Given the description of an element on the screen output the (x, y) to click on. 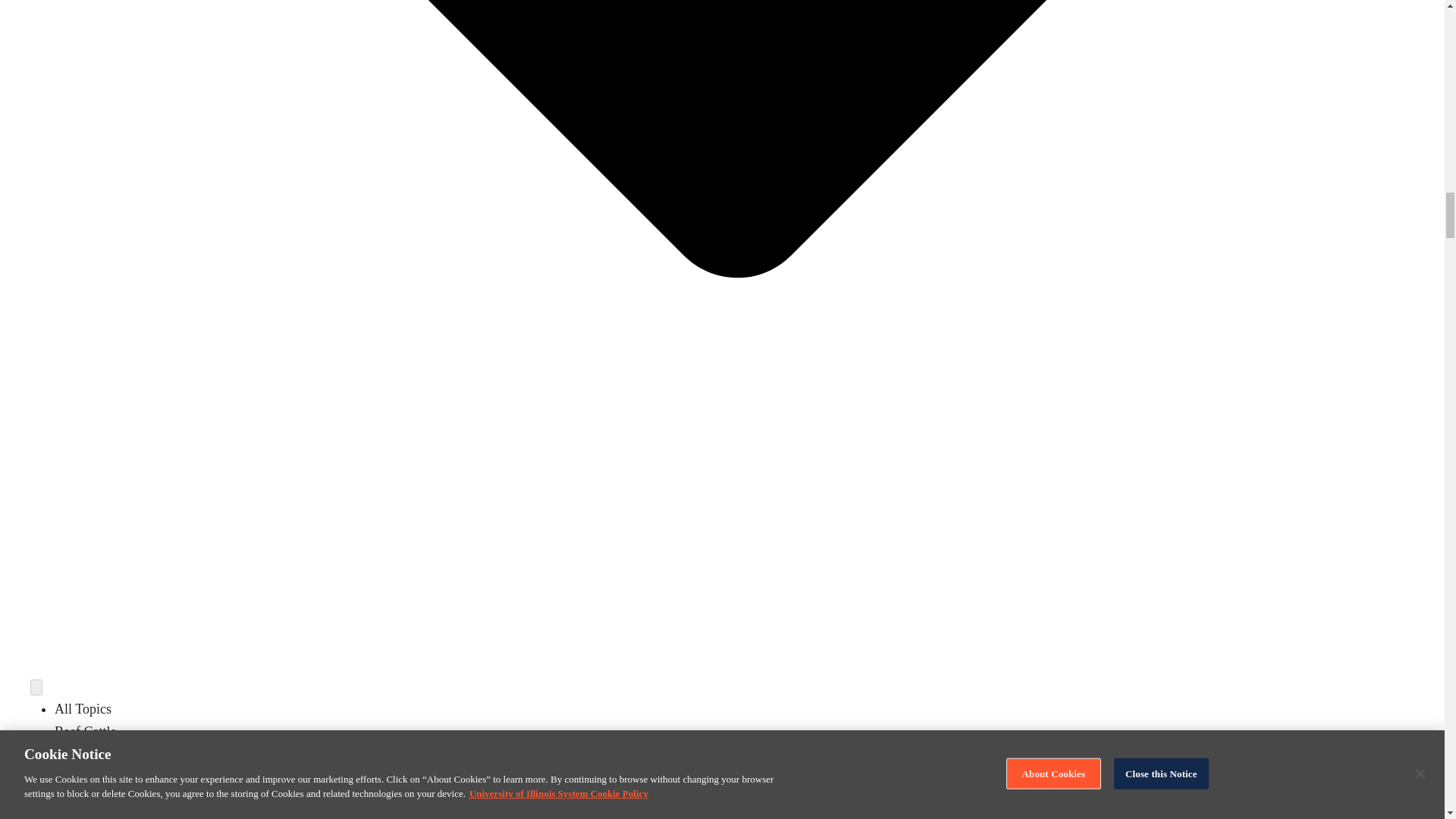
Beef Cattle (85, 731)
Environment (90, 776)
All Topics (83, 708)
Family (74, 799)
Food (68, 816)
Community Planning (113, 754)
